Given the description of an element on the screen output the (x, y) to click on. 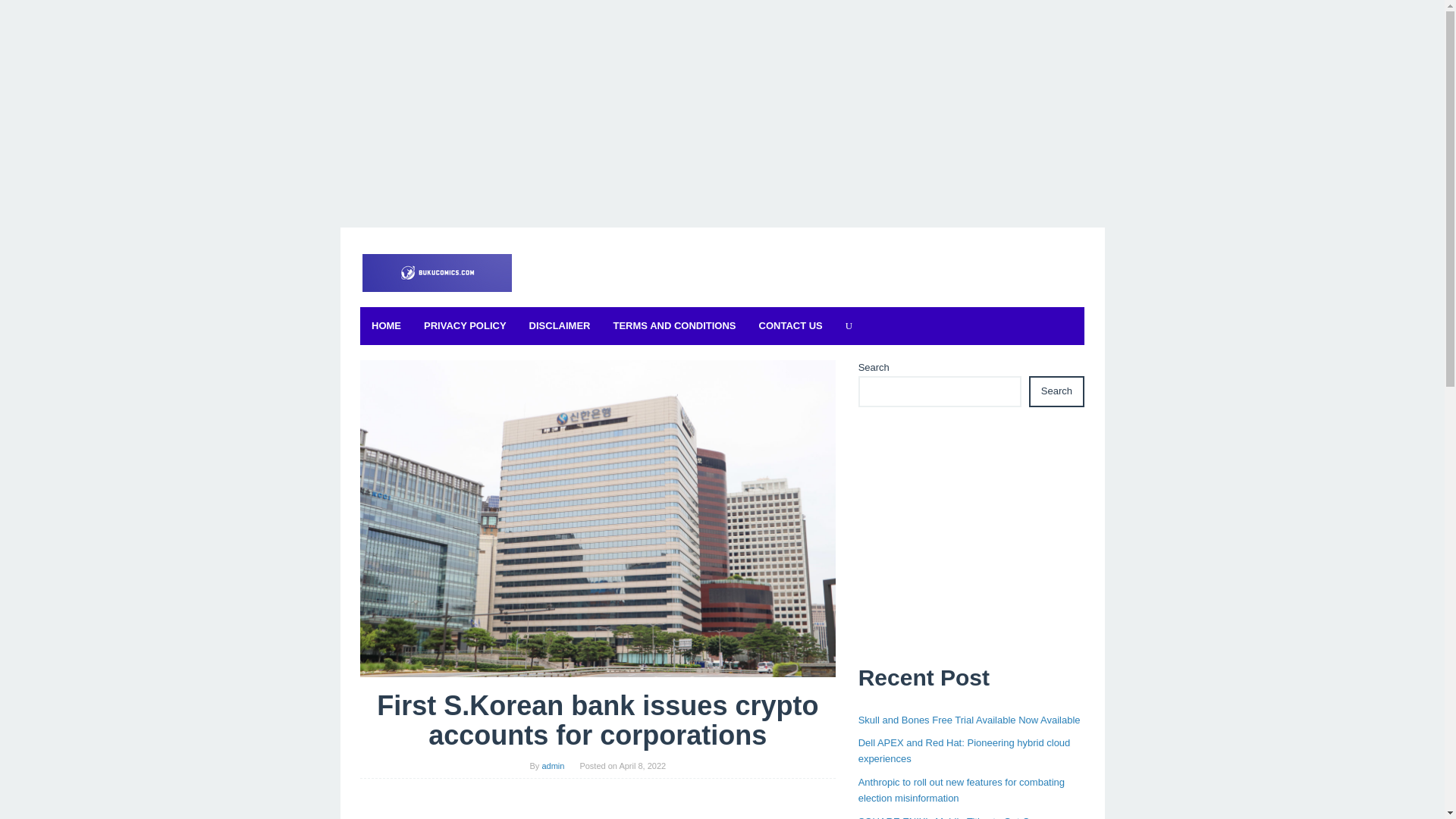
PRIVACY POLICY (465, 325)
Blog (435, 271)
Dell APEX and Red Hat: Pioneering hybrid cloud experiences (964, 750)
Skull and Bones Free Trial Available Now Available (969, 719)
Search (1056, 391)
TERMS AND CONDITIONS (675, 325)
admin (552, 765)
CONTACT US (791, 325)
HOME (385, 325)
Blog (435, 272)
DISCLAIMER (560, 325)
Permalink to: admin (552, 765)
